Given the description of an element on the screen output the (x, y) to click on. 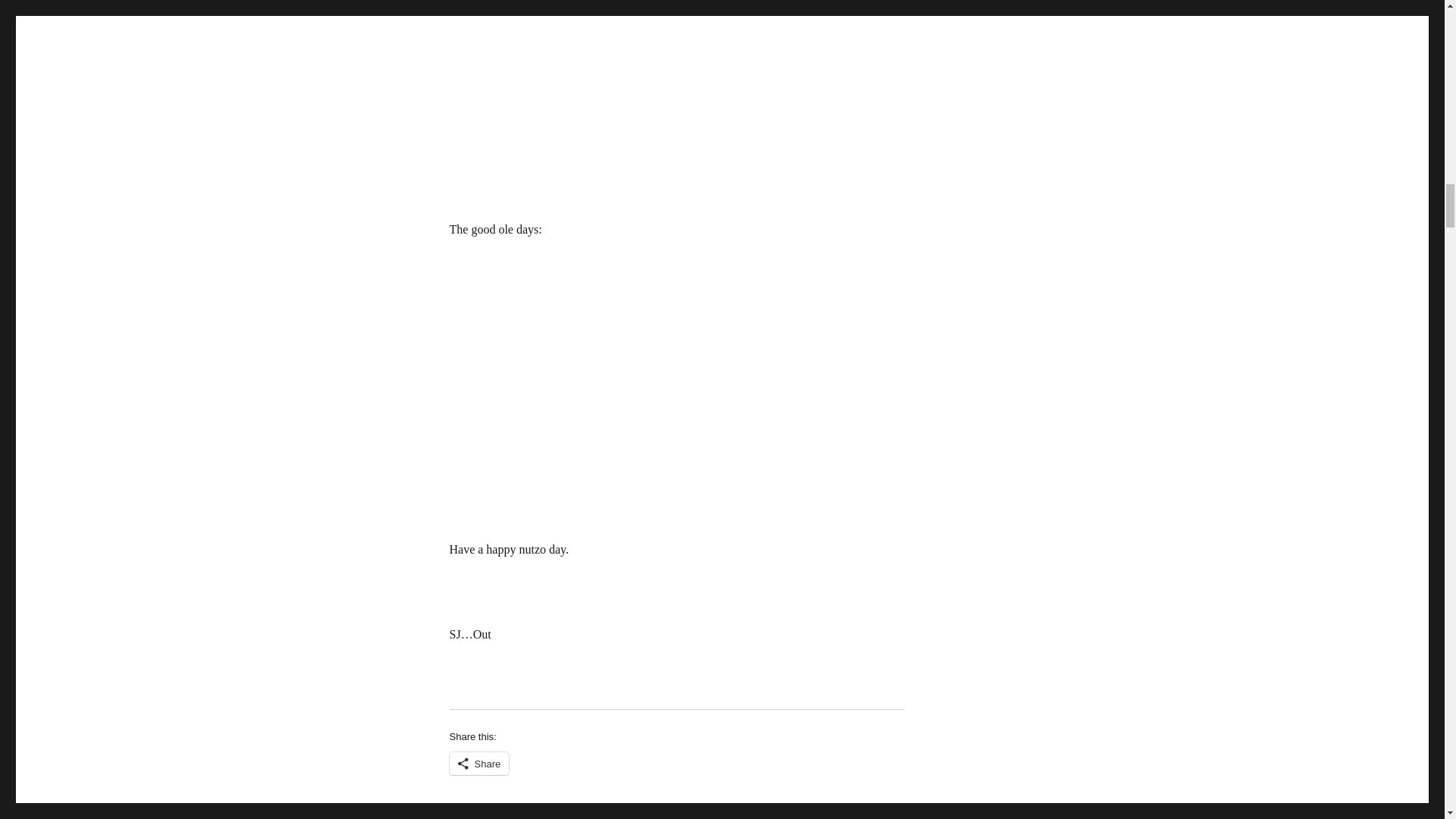
Share (478, 763)
